Given the description of an element on the screen output the (x, y) to click on. 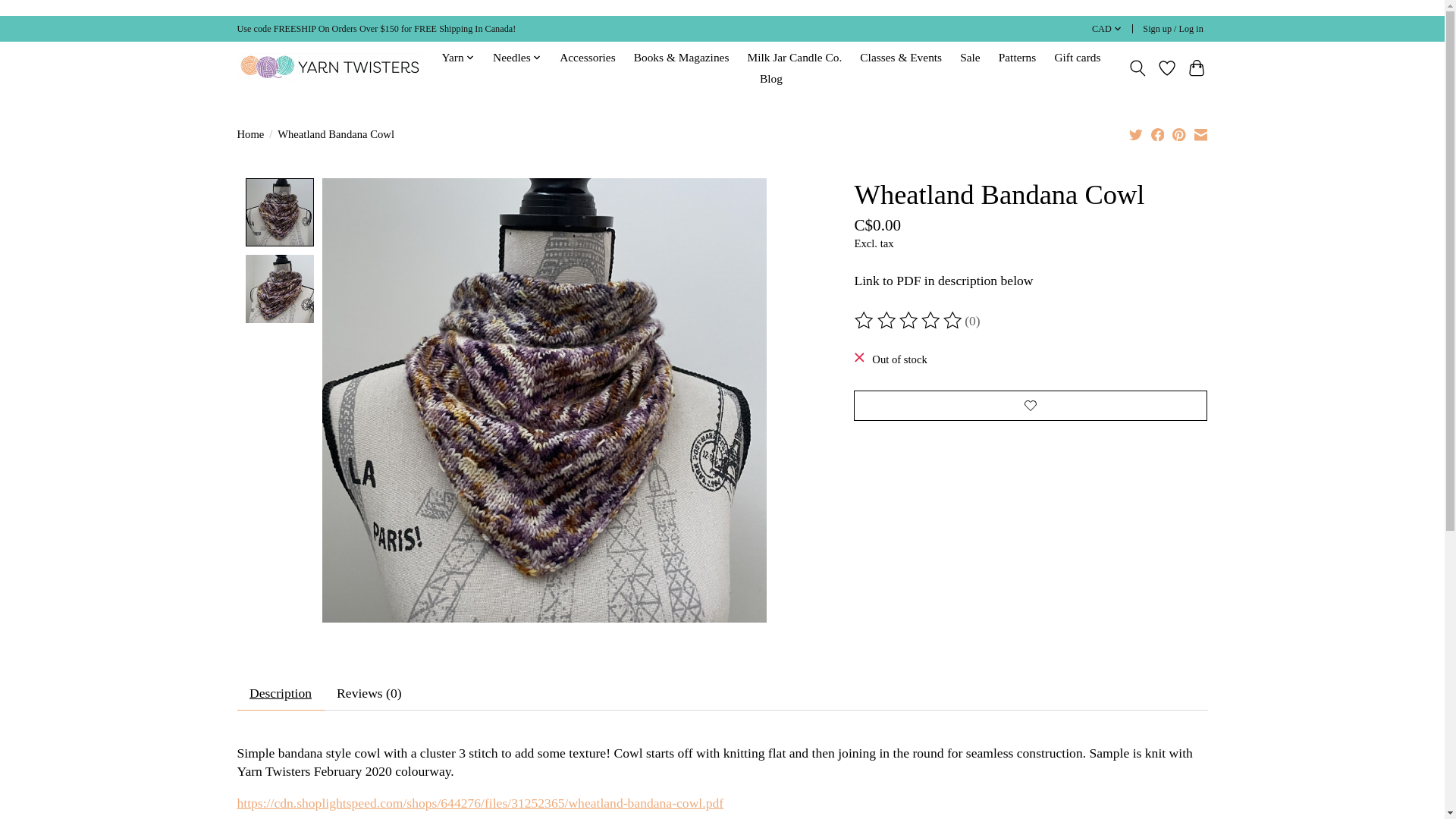
Accessories (587, 56)
Yarn Twisters (328, 67)
Share on Twitter (1135, 133)
Share on Facebook (1157, 133)
Blog (770, 78)
Sale (970, 56)
My account (1173, 28)
CAD (1106, 28)
Yarn (457, 56)
Needles (517, 56)
